Given the description of an element on the screen output the (x, y) to click on. 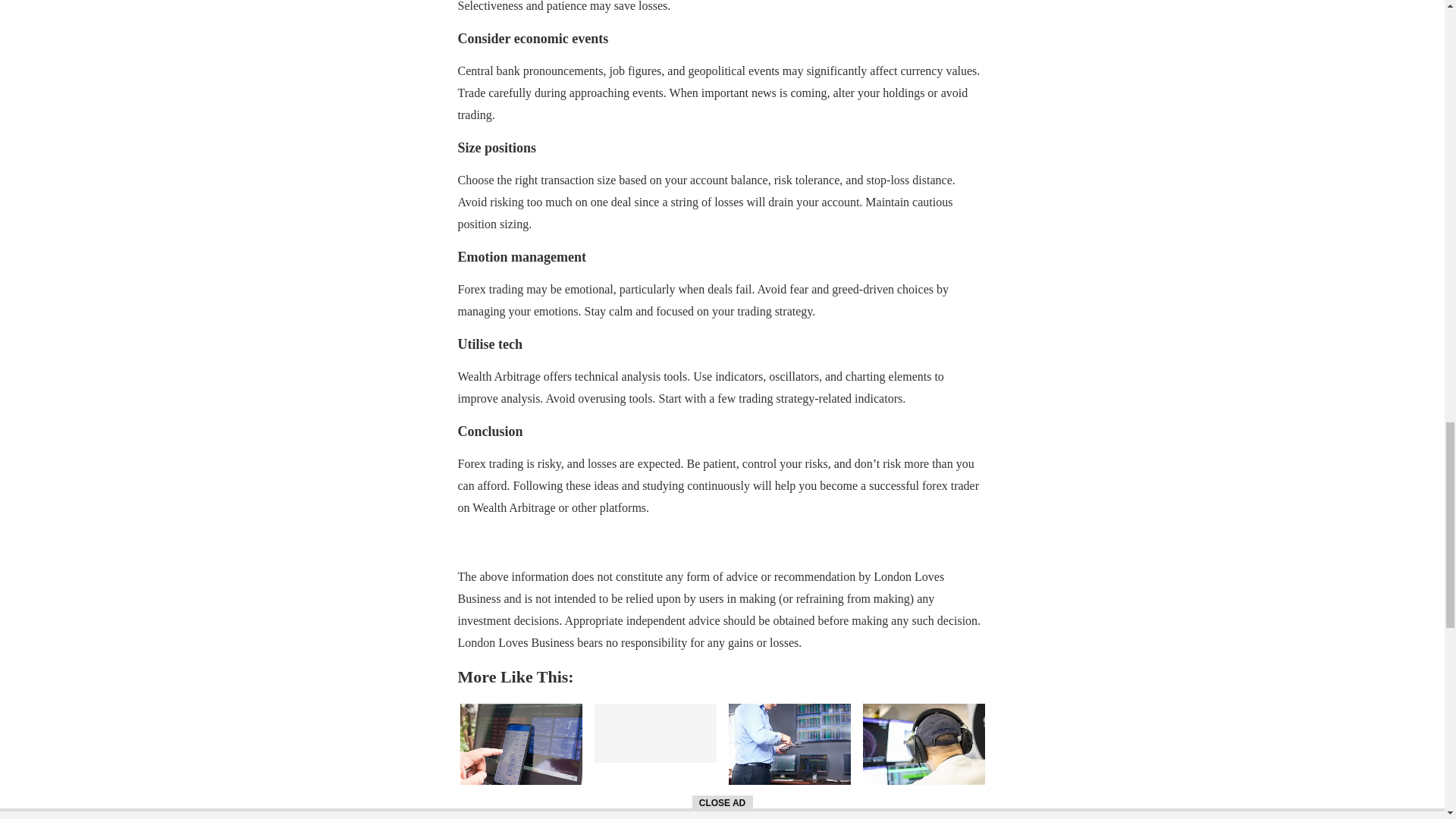
10 companies using React Native in 2024 (924, 743)
